Given the description of an element on the screen output the (x, y) to click on. 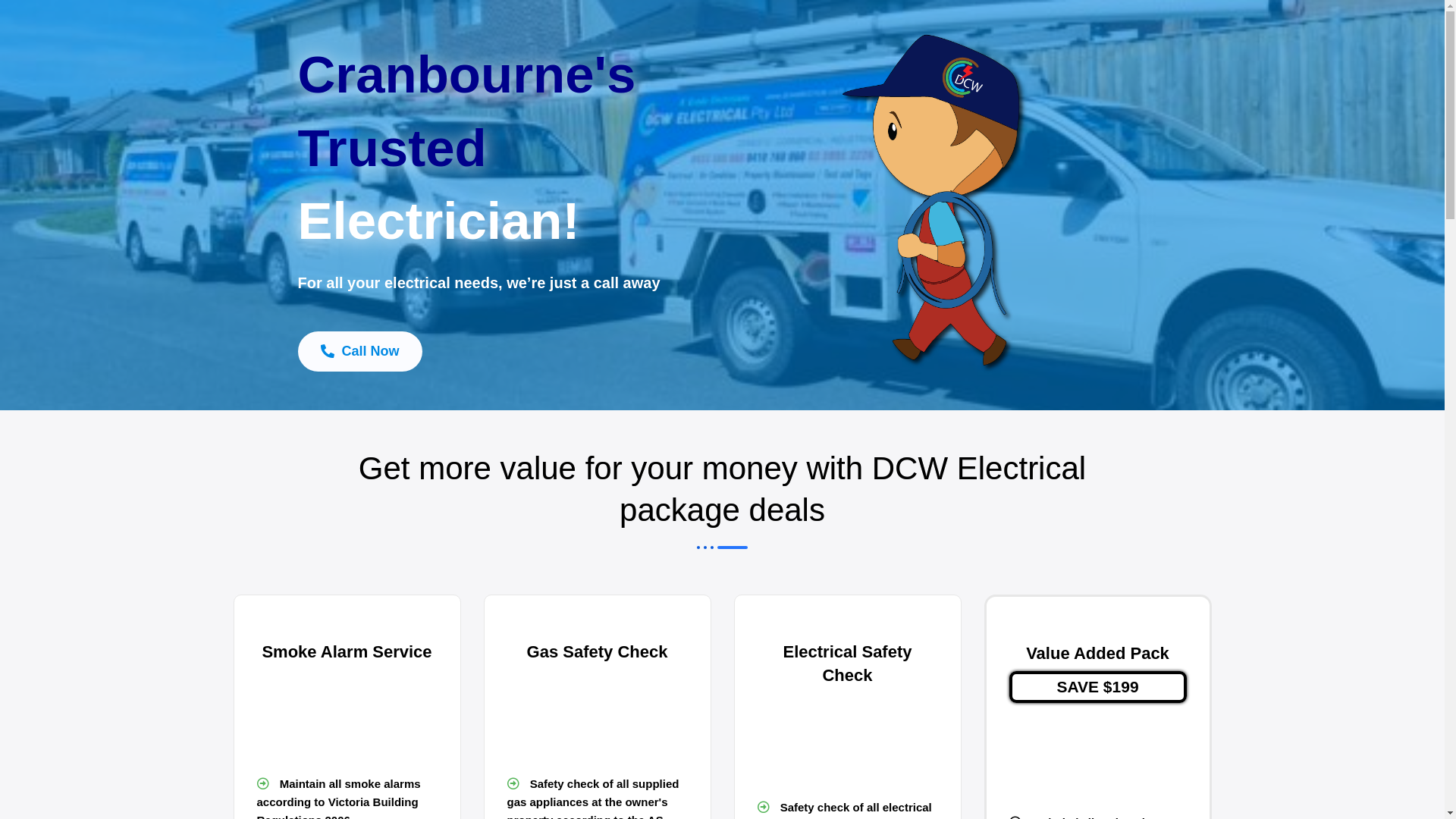
Call Now Element type: text (359, 351)
DCW-B-Left-1 Element type: hover (932, 205)
